Given the description of an element on the screen output the (x, y) to click on. 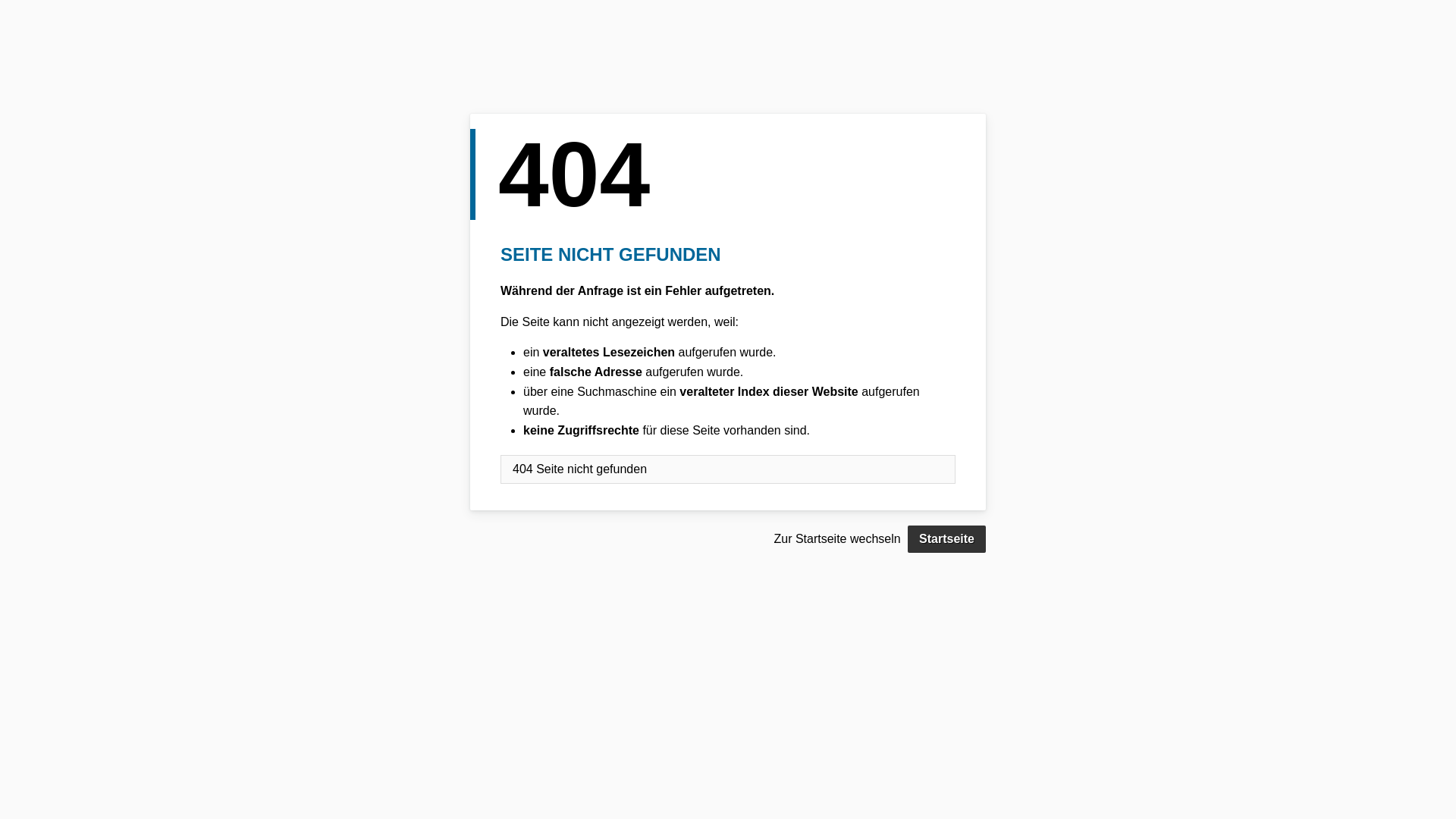
Startseite Element type: text (946, 538)
